Given the description of an element on the screen output the (x, y) to click on. 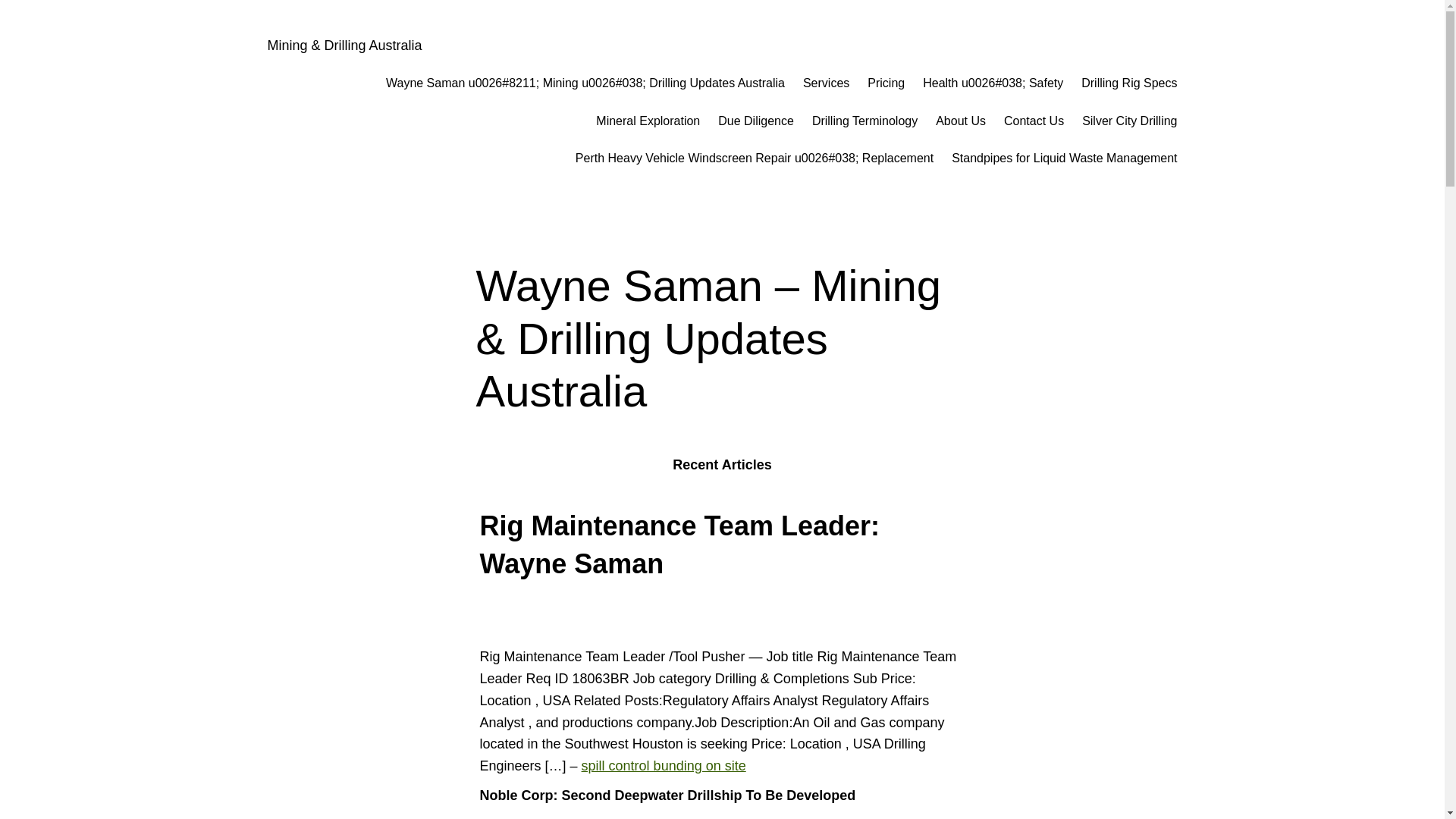
Health u0026#038; Safety Element type: text (992, 83)
Pricing Element type: text (885, 83)
Drilling Terminology Element type: text (864, 121)
Services Element type: text (826, 83)
Mineral Exploration Element type: text (647, 121)
Standpipes for Liquid Waste Management Element type: text (1063, 158)
spill control bunding on site Element type: text (663, 765)
Contact Us Element type: text (1033, 121)
Perth Heavy Vehicle Windscreen Repair u0026#038; Replacement Element type: text (754, 158)
Silver City Drilling Element type: text (1129, 121)
Mining & Drilling Australia Element type: text (343, 45)
Due Diligence Element type: text (755, 121)
About Us Element type: text (960, 121)
Drilling Rig Specs Element type: text (1128, 83)
